Given the description of an element on the screen output the (x, y) to click on. 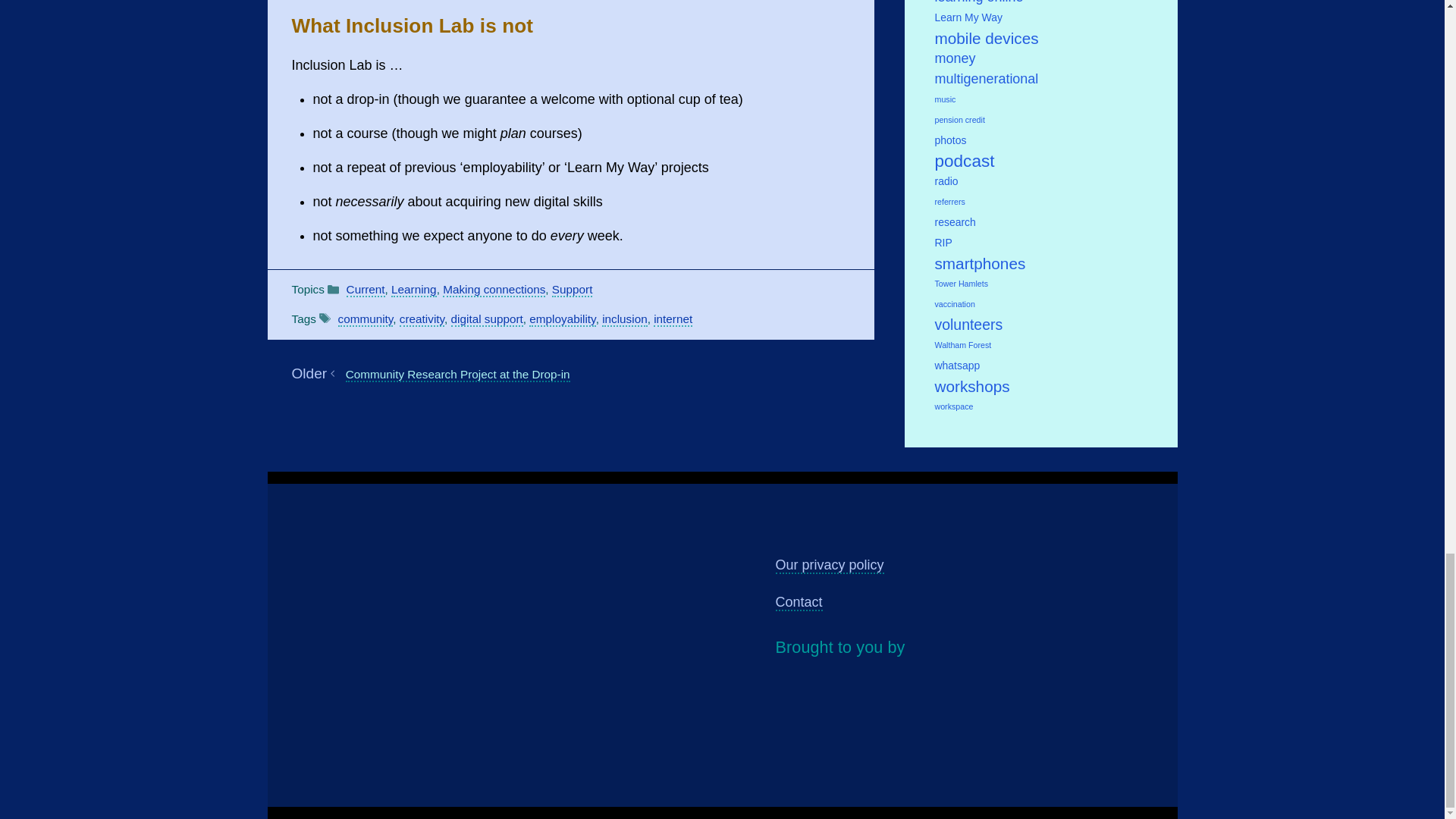
Making connections (493, 289)
internet (673, 319)
creativity (421, 319)
Current (365, 289)
Organised by (941, 702)
Support (571, 289)
Learning (413, 289)
digital support (486, 319)
Community Research Project at the Drop-in (458, 374)
community (365, 319)
employability (562, 319)
inclusion (624, 319)
